Given the description of an element on the screen output the (x, y) to click on. 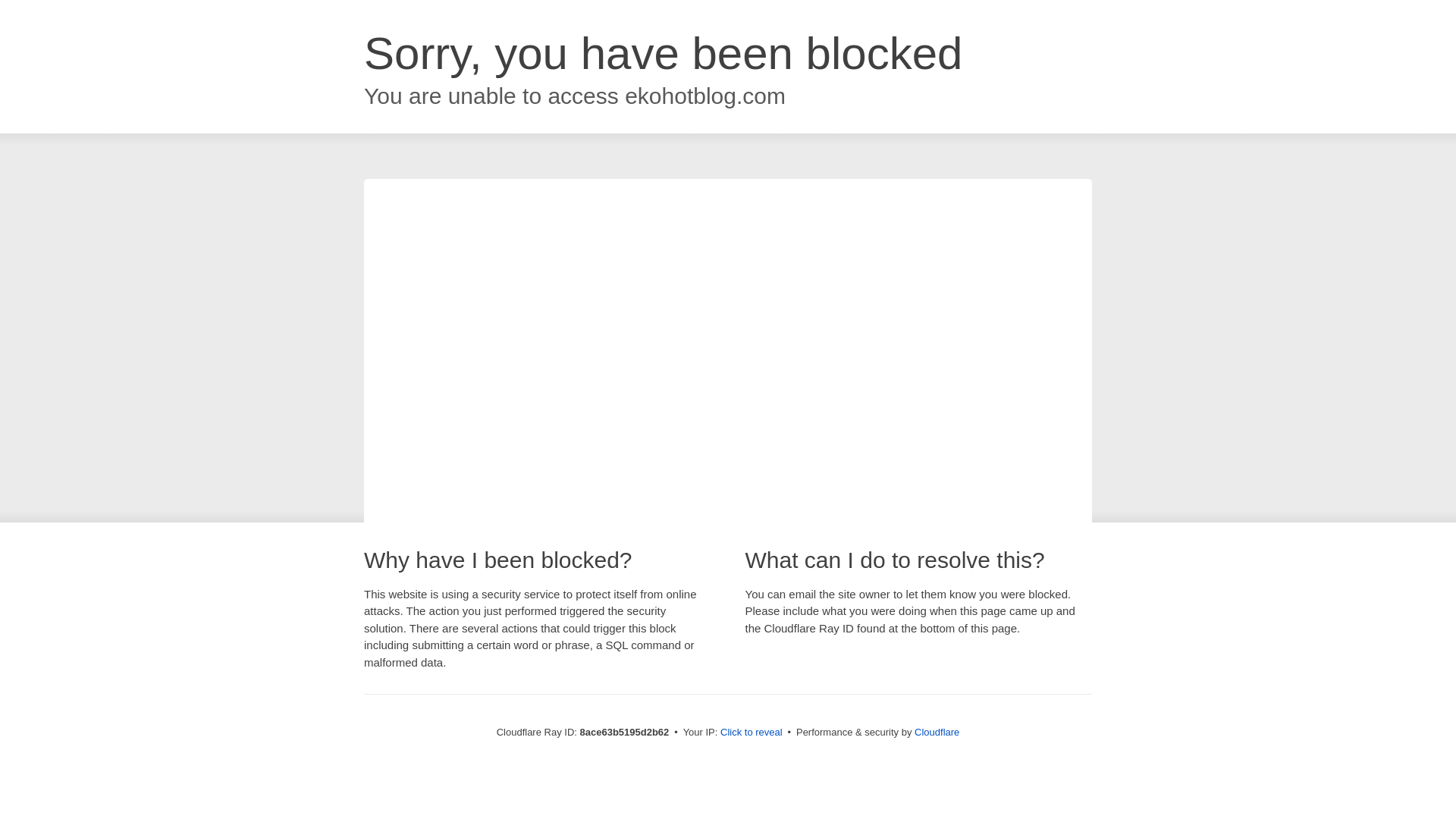
Cloudflare (936, 731)
Click to reveal (751, 732)
